Given the description of an element on the screen output the (x, y) to click on. 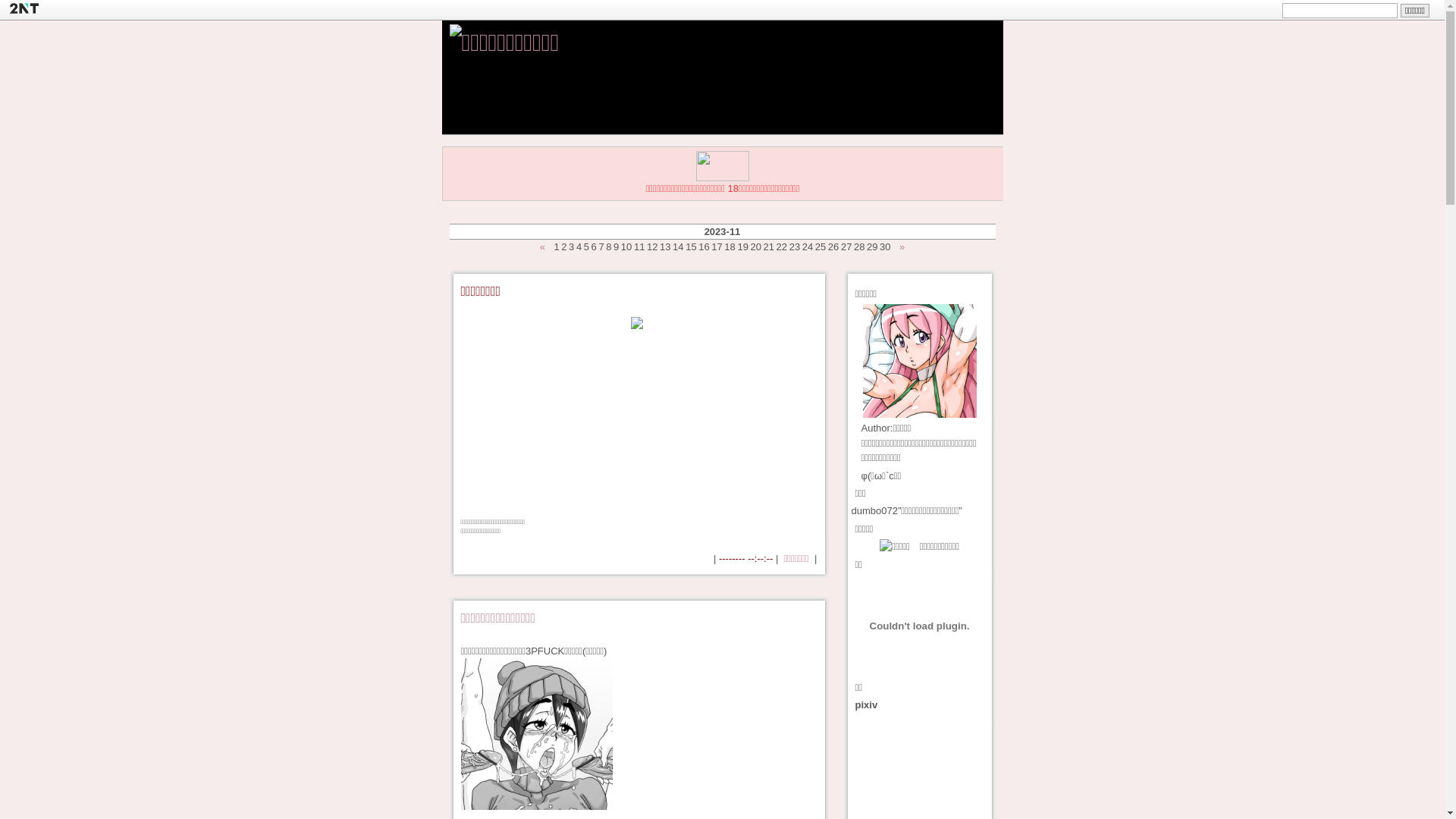
-------- --:--:-- Element type: text (745, 558)
